Given the description of an element on the screen output the (x, y) to click on. 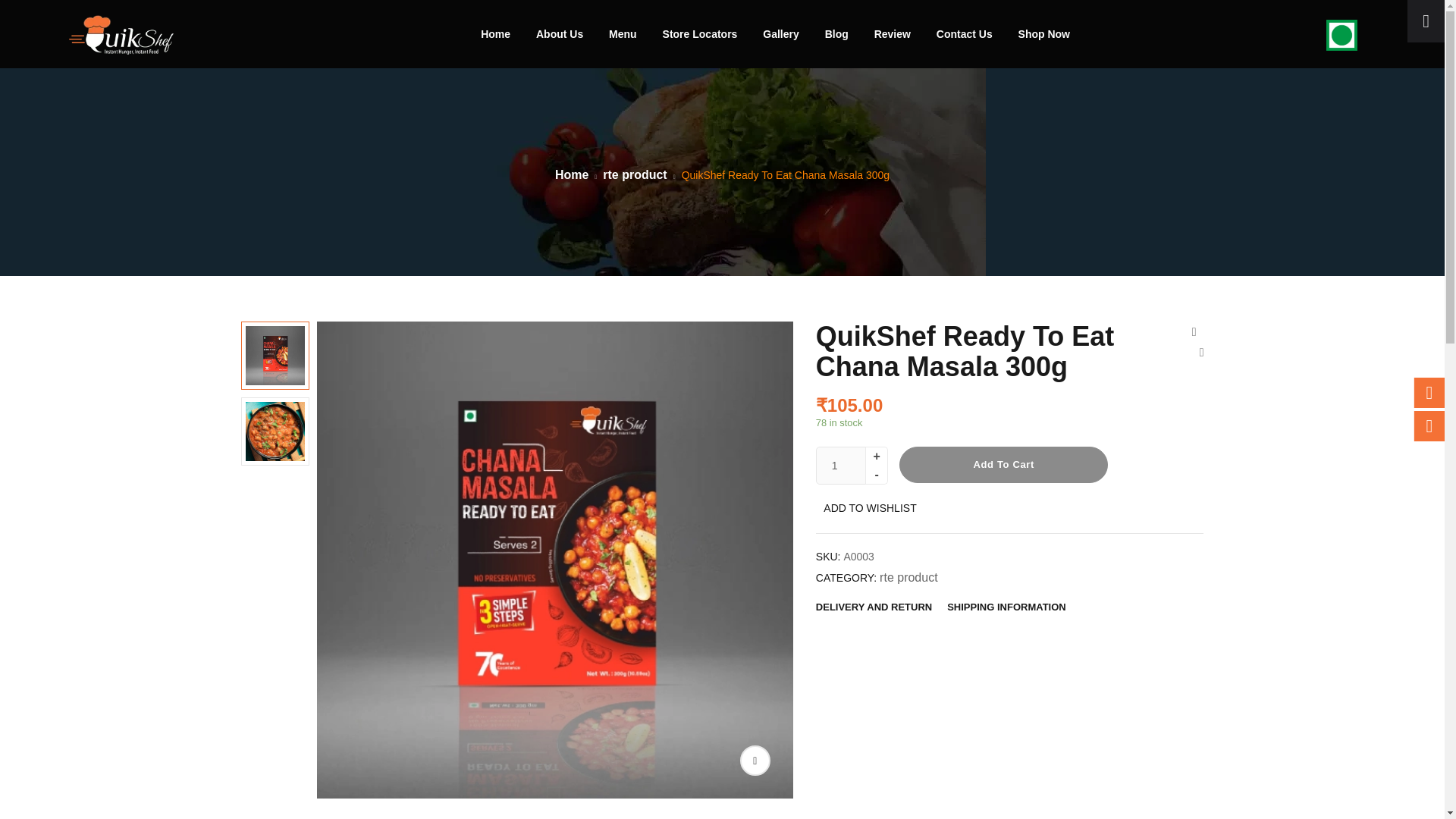
Store Locators (700, 34)
Qty (845, 465)
Add To Cart (1003, 464)
Contact Us (964, 34)
1 (845, 465)
About Us (559, 34)
rte product (634, 174)
Review (893, 34)
Home (495, 34)
- (876, 475)
Shop Now (1043, 34)
Gallery (779, 34)
Home (571, 174)
